Given the description of an element on the screen output the (x, y) to click on. 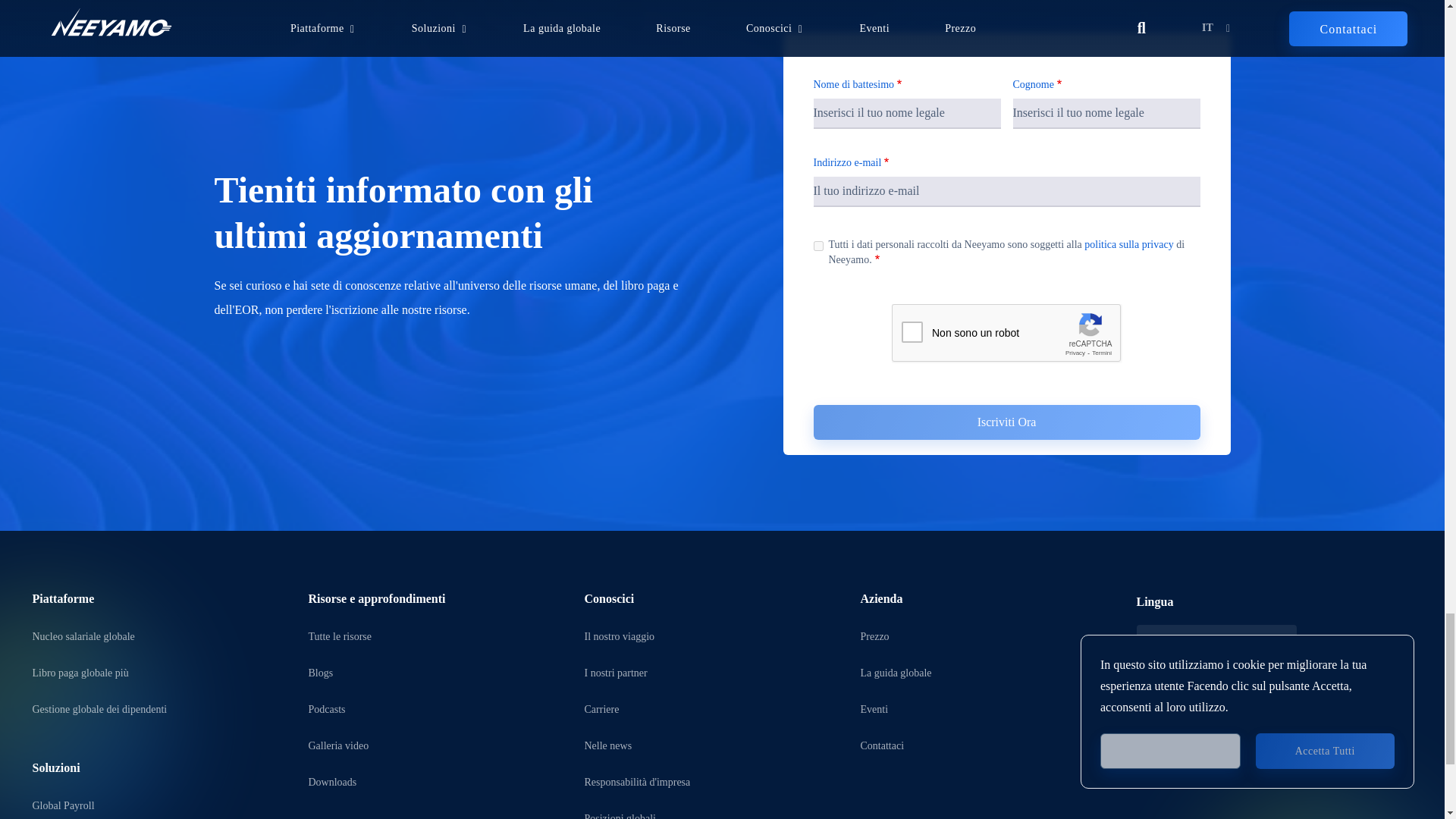
Iscriviti Ora (1005, 421)
reCAPTCHA (1006, 333)
1 (817, 245)
